Given the description of an element on the screen output the (x, y) to click on. 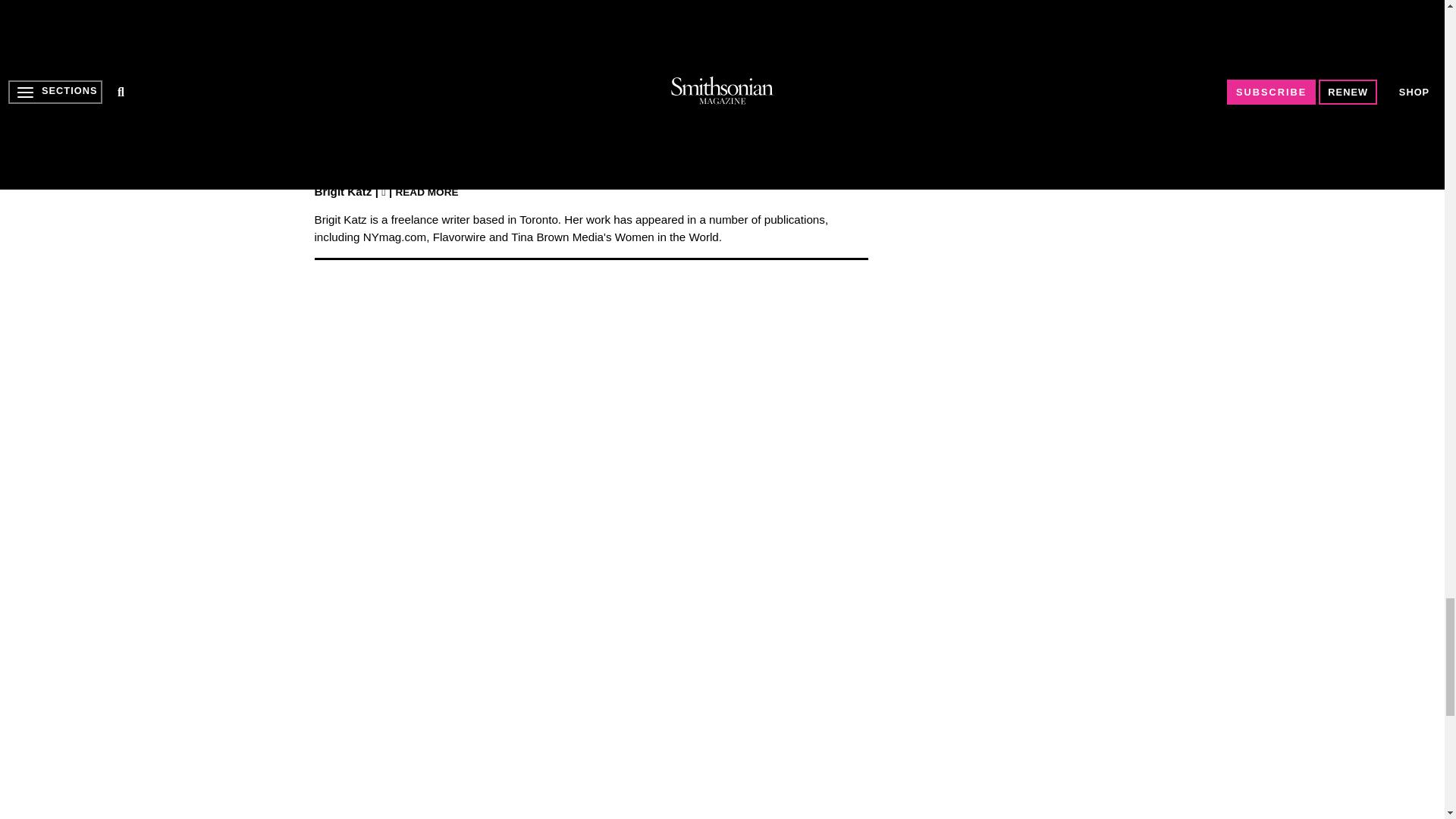
Read more from this author (426, 191)
Sign Up (740, 123)
